Given the description of an element on the screen output the (x, y) to click on. 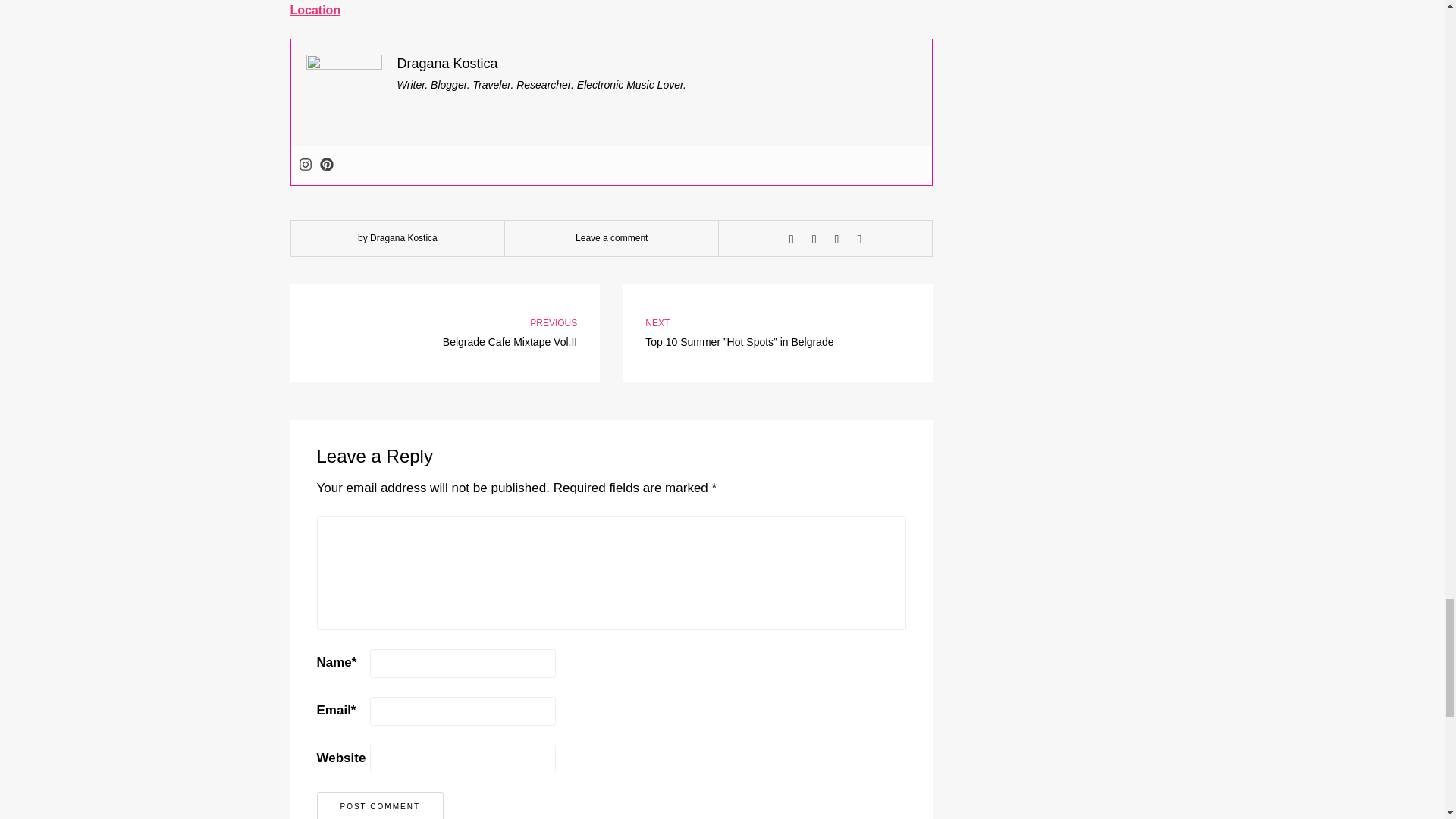
Share with Google Plus (837, 239)
Pin this (858, 239)
Post comment (380, 805)
Share this (791, 239)
Tweet this (814, 239)
